Given the description of an element on the screen output the (x, y) to click on. 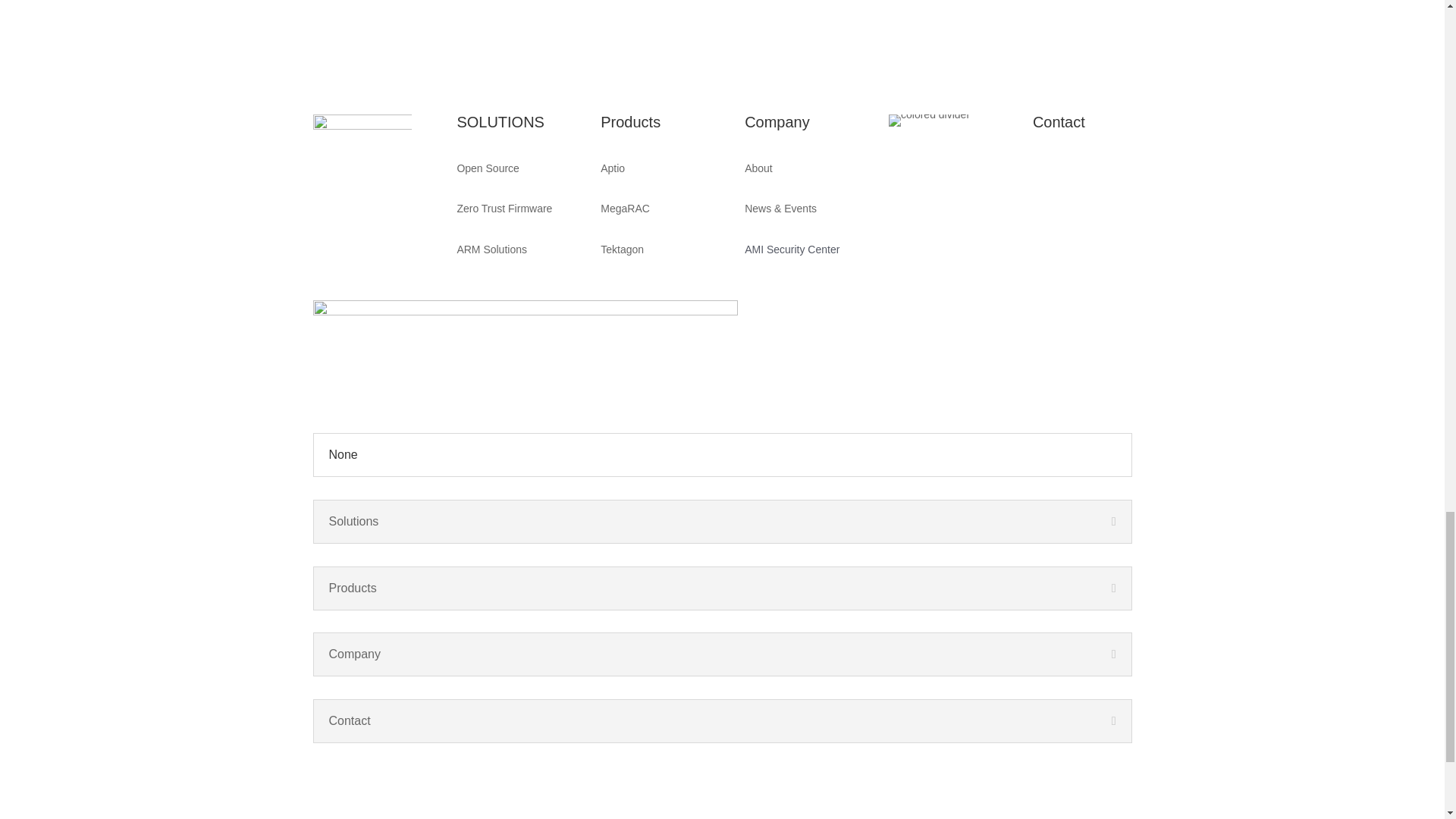
Follow on google-plus (1044, 202)
Follow on google-plus (354, 777)
Follow on Youtube (1074, 171)
Contact AMI (1058, 121)
Follow on LinkedIn (415, 777)
Follow on Facebook (324, 777)
Follow on Facebook (1044, 171)
Follow on Youtube (384, 777)
Follow on LinkedIn (1105, 171)
